Given the description of an element on the screen output the (x, y) to click on. 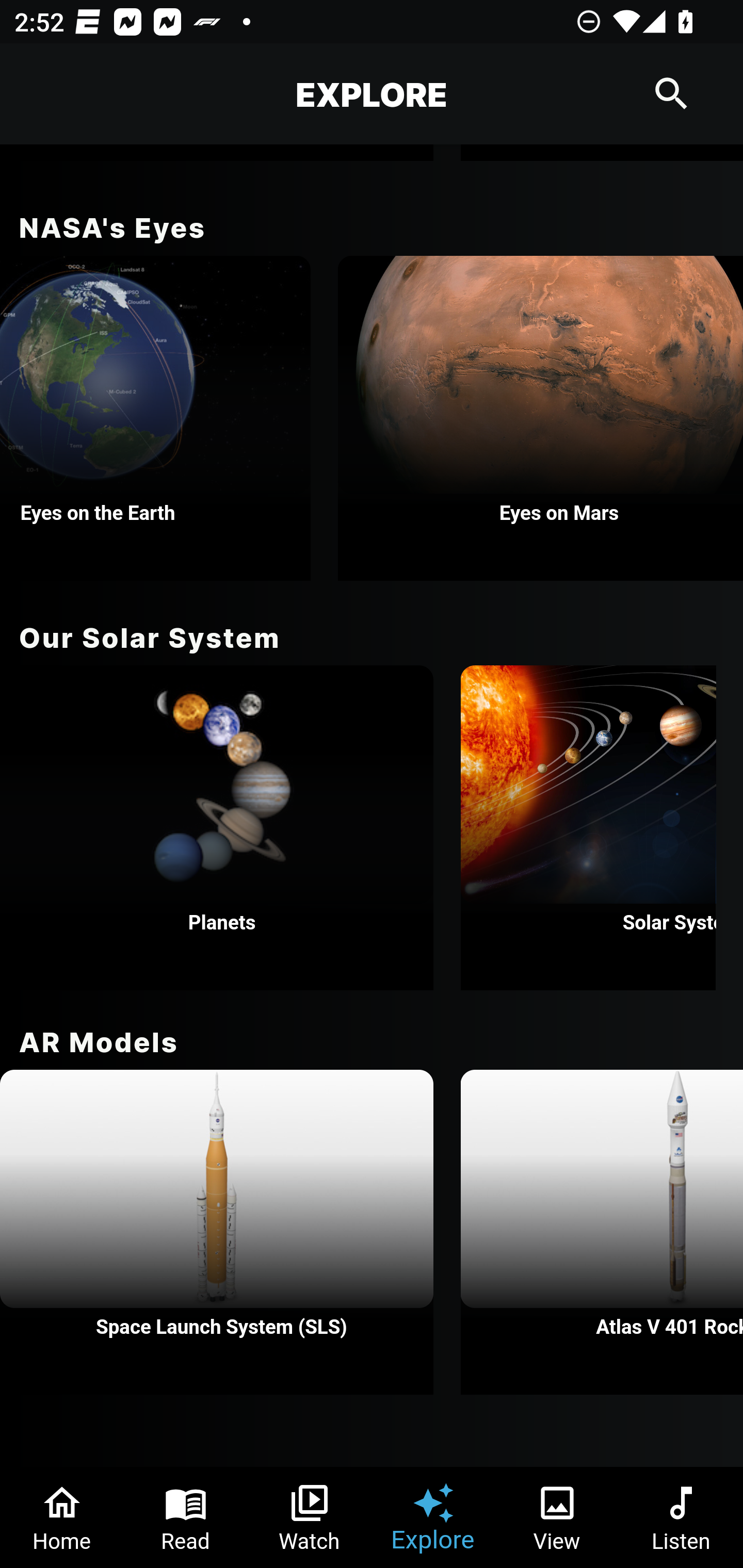
Eyes on the Earth (155, 417)
Eyes on Mars (540, 417)
Planets (216, 827)
Solar System (588, 827)
 Space Launch System (SLS) (216, 1231)
Atlas V 401 Rocket (601, 1231)
Home
Tab 1 of 6 (62, 1517)
Read
Tab 2 of 6 (185, 1517)
Watch
Tab 3 of 6 (309, 1517)
Explore
Tab 4 of 6 (433, 1517)
View
Tab 5 of 6 (556, 1517)
Listen
Tab 6 of 6 (680, 1517)
